Given the description of an element on the screen output the (x, y) to click on. 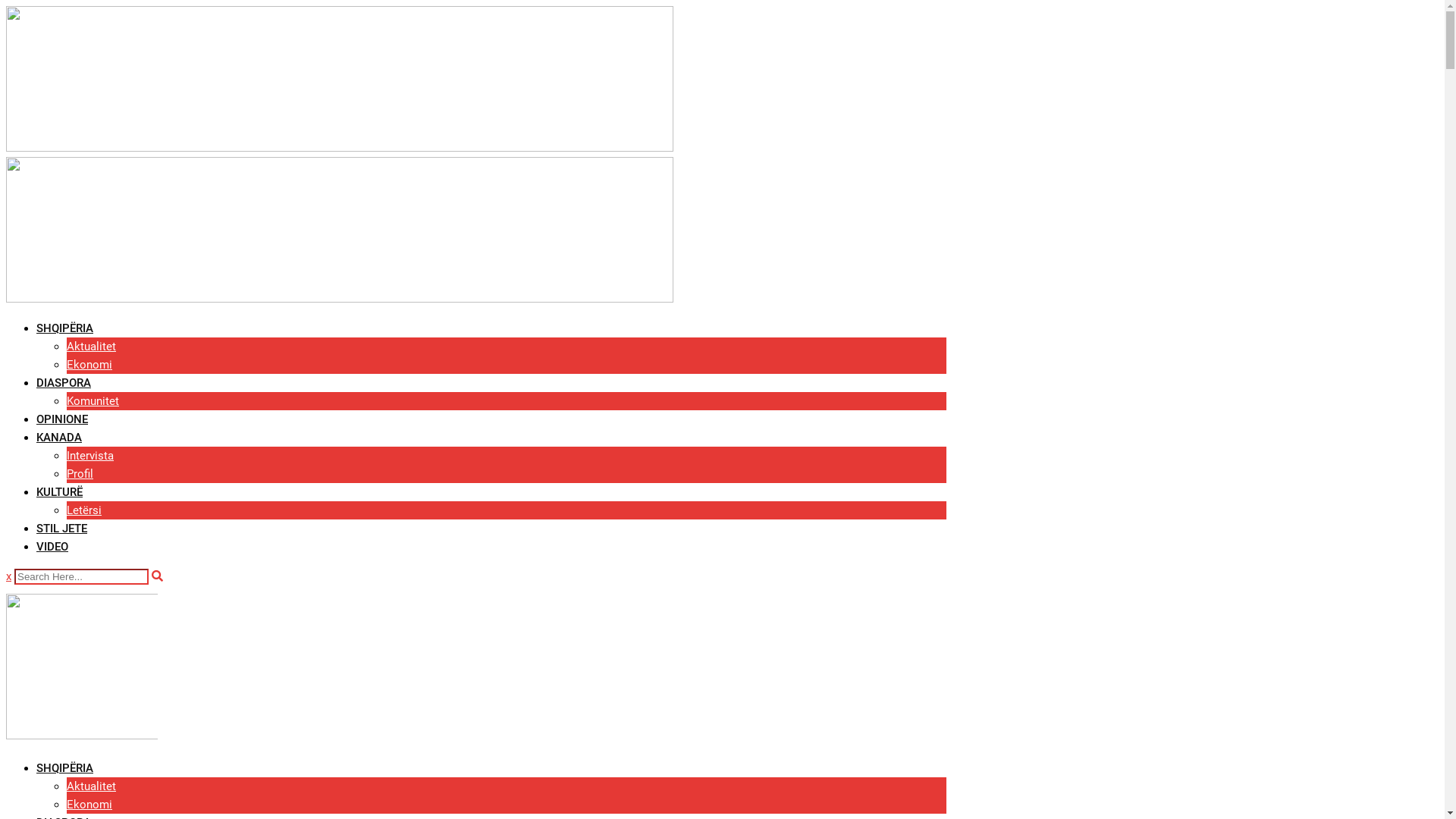
x Element type: text (8, 576)
STIL JETE Element type: text (61, 528)
Skip to content Element type: text (5, 5)
Intervista Element type: text (89, 455)
VIDEO Element type: text (52, 546)
Ekonomi Element type: text (89, 804)
Komunitet Element type: text (92, 400)
OPINIONE Element type: text (61, 419)
Aktualitet Element type: text (91, 346)
Profil Element type: text (79, 473)
Aktualitet Element type: text (91, 786)
KANADA Element type: text (58, 437)
Ekonomi Element type: text (89, 364)
DIASPORA Element type: text (63, 382)
